Given the description of an element on the screen output the (x, y) to click on. 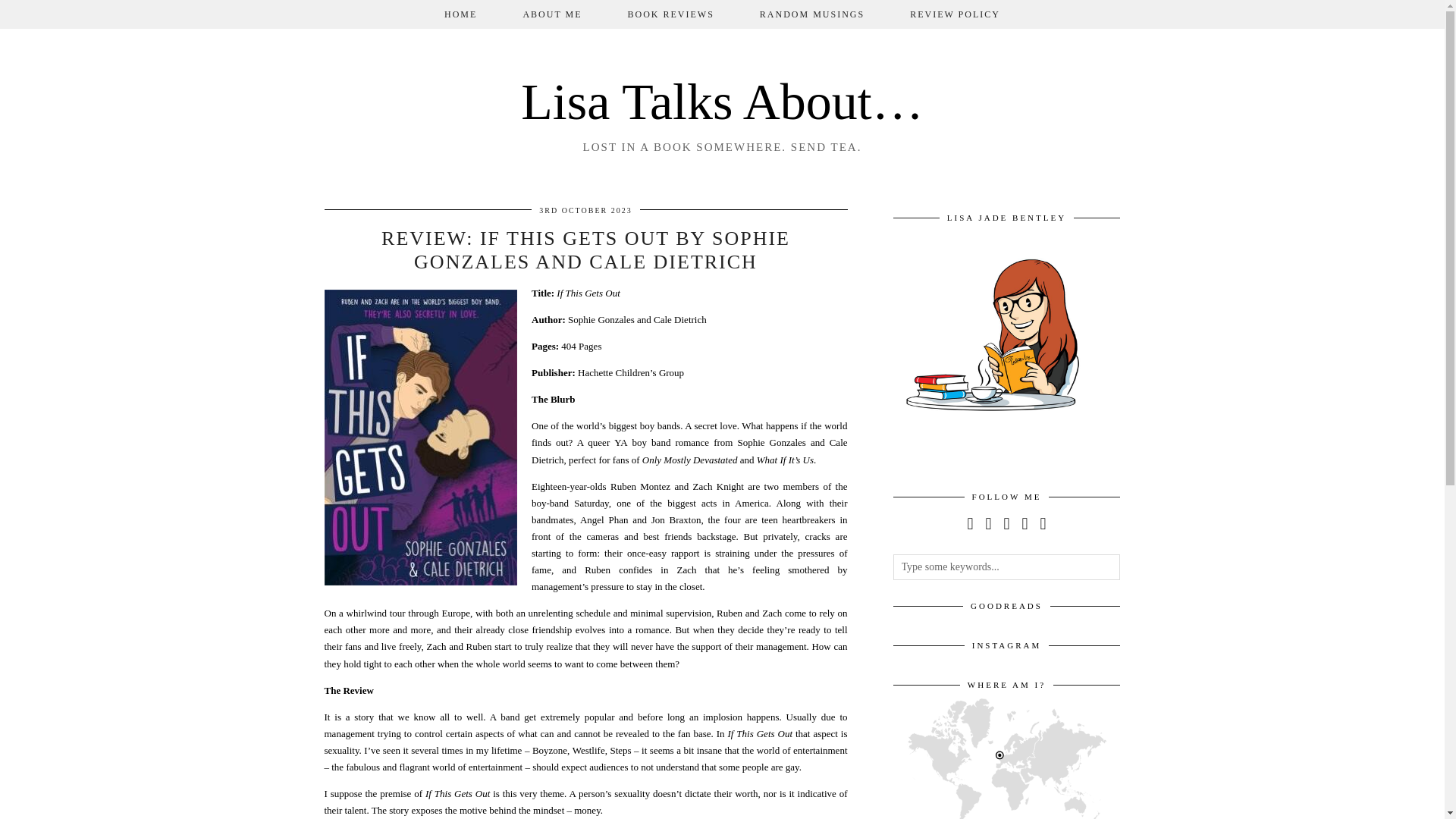
RANDOM MUSINGS (811, 14)
facebook (1006, 523)
twitter (969, 523)
REVIEW POLICY (954, 14)
Email (1024, 523)
HOME (460, 14)
ABOUT ME (551, 14)
BOOK REVIEWS (670, 14)
instagram (988, 523)
RSS Feed (1043, 523)
